Given the description of an element on the screen output the (x, y) to click on. 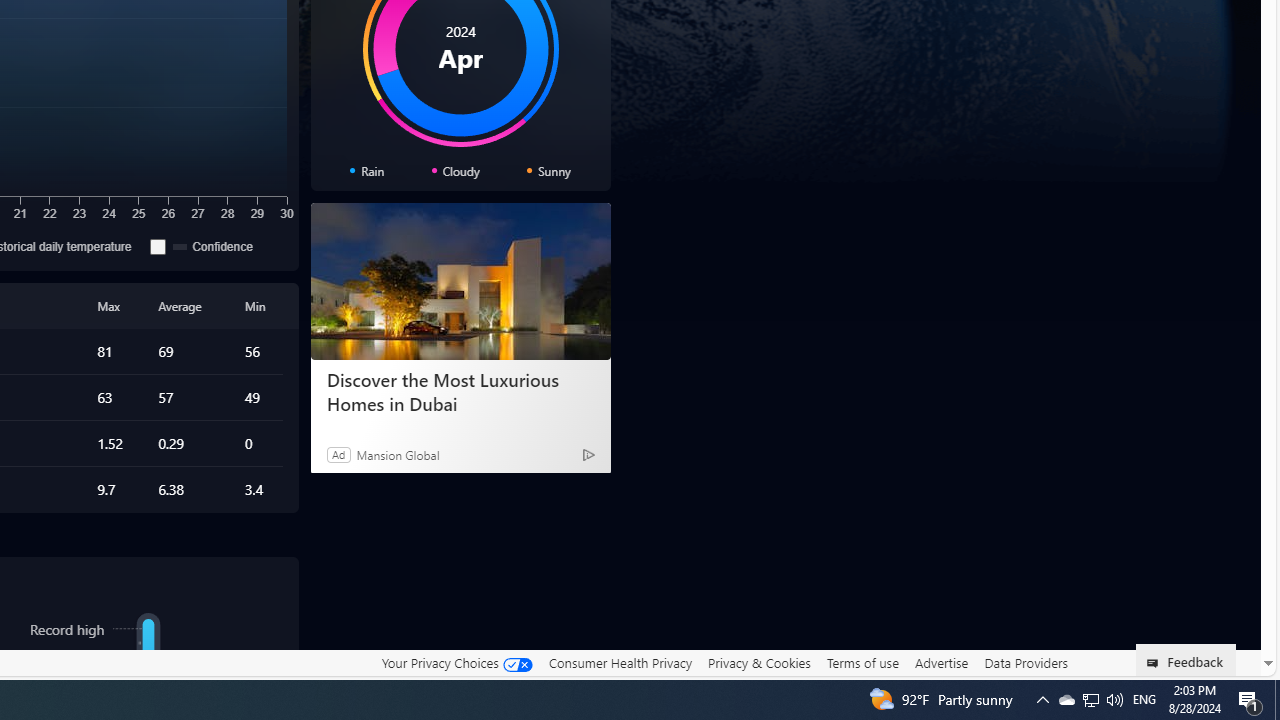
Consumer Health Privacy (619, 662)
Discover the Most Luxurious Homes in Dubai (459, 281)
Mansion Global (397, 453)
Privacy & Cookies (759, 663)
Consumer Health Privacy (619, 663)
Data Providers (1025, 663)
Confidence (157, 246)
Terms of use (861, 662)
Your Privacy Choices (456, 662)
